Given the description of an element on the screen output the (x, y) to click on. 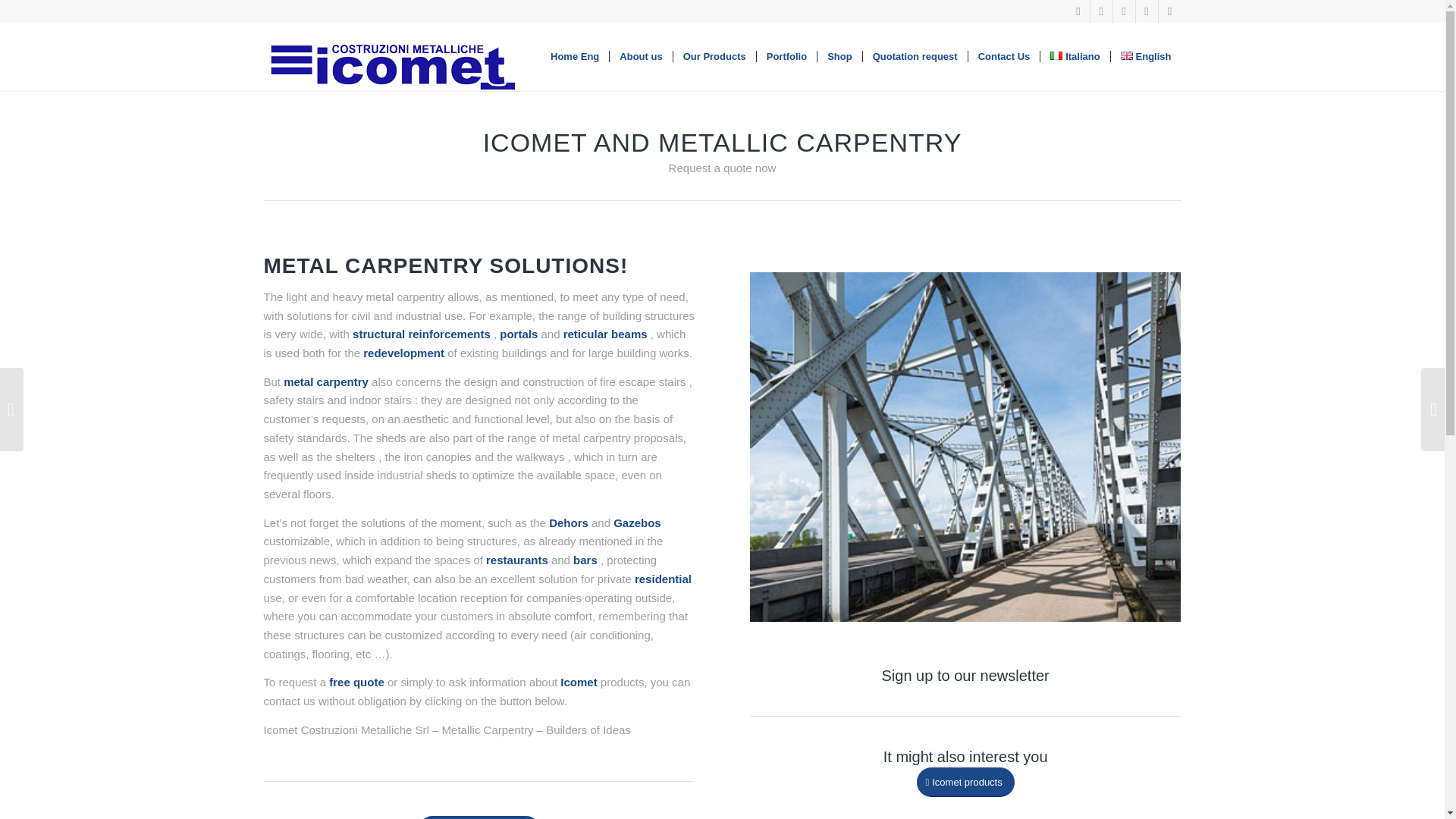
Facebook (1078, 11)
Twitter (1124, 11)
Icomet products (964, 781)
Italiano (1074, 56)
Instagram (1146, 11)
Request a free quote! (478, 817)
Contact Us (1004, 56)
Portfolio (785, 56)
Quotation request (914, 56)
Youtube (1101, 11)
